Given the description of an element on the screen output the (x, y) to click on. 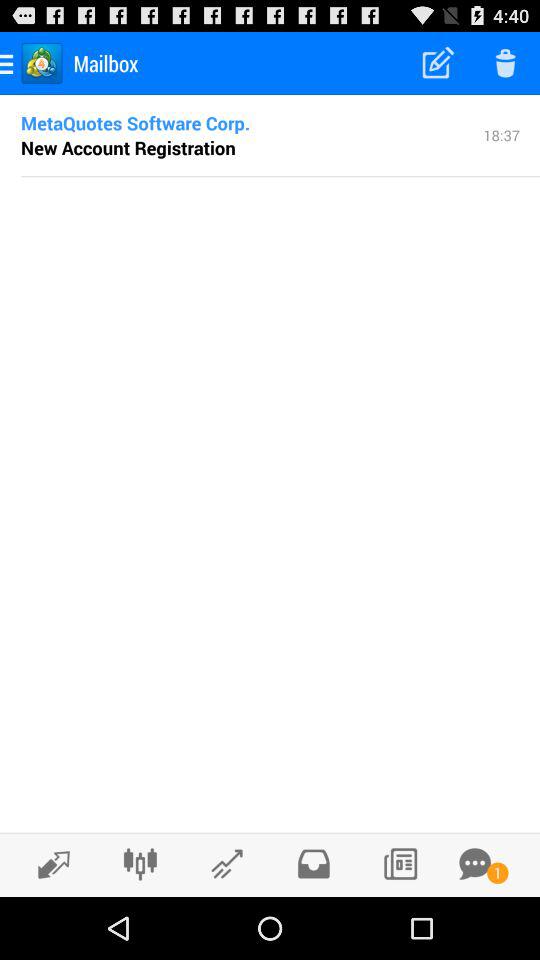
message (475, 864)
